Given the description of an element on the screen output the (x, y) to click on. 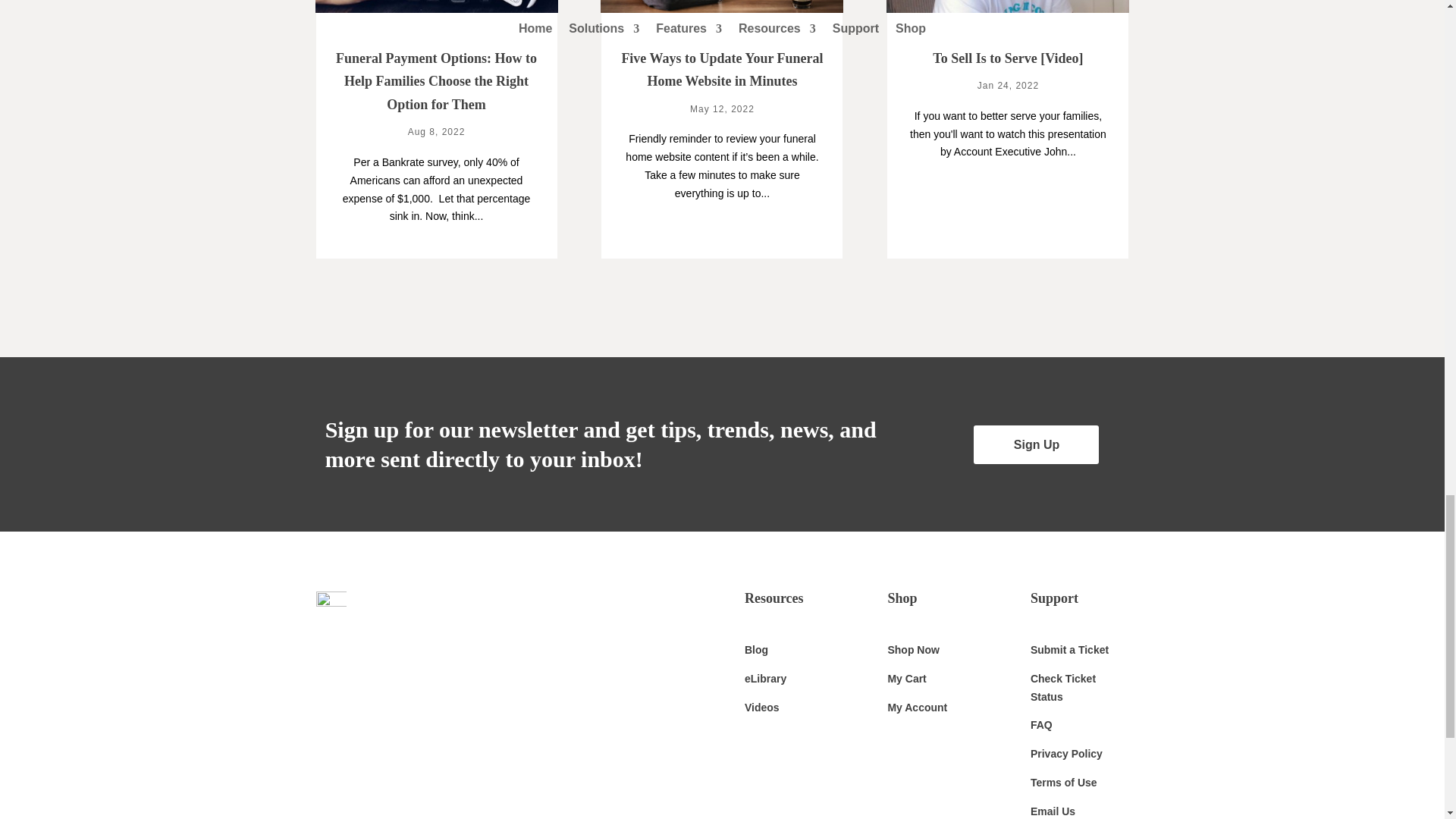
Gray-F-404040 (330, 607)
